Given the description of an element on the screen output the (x, y) to click on. 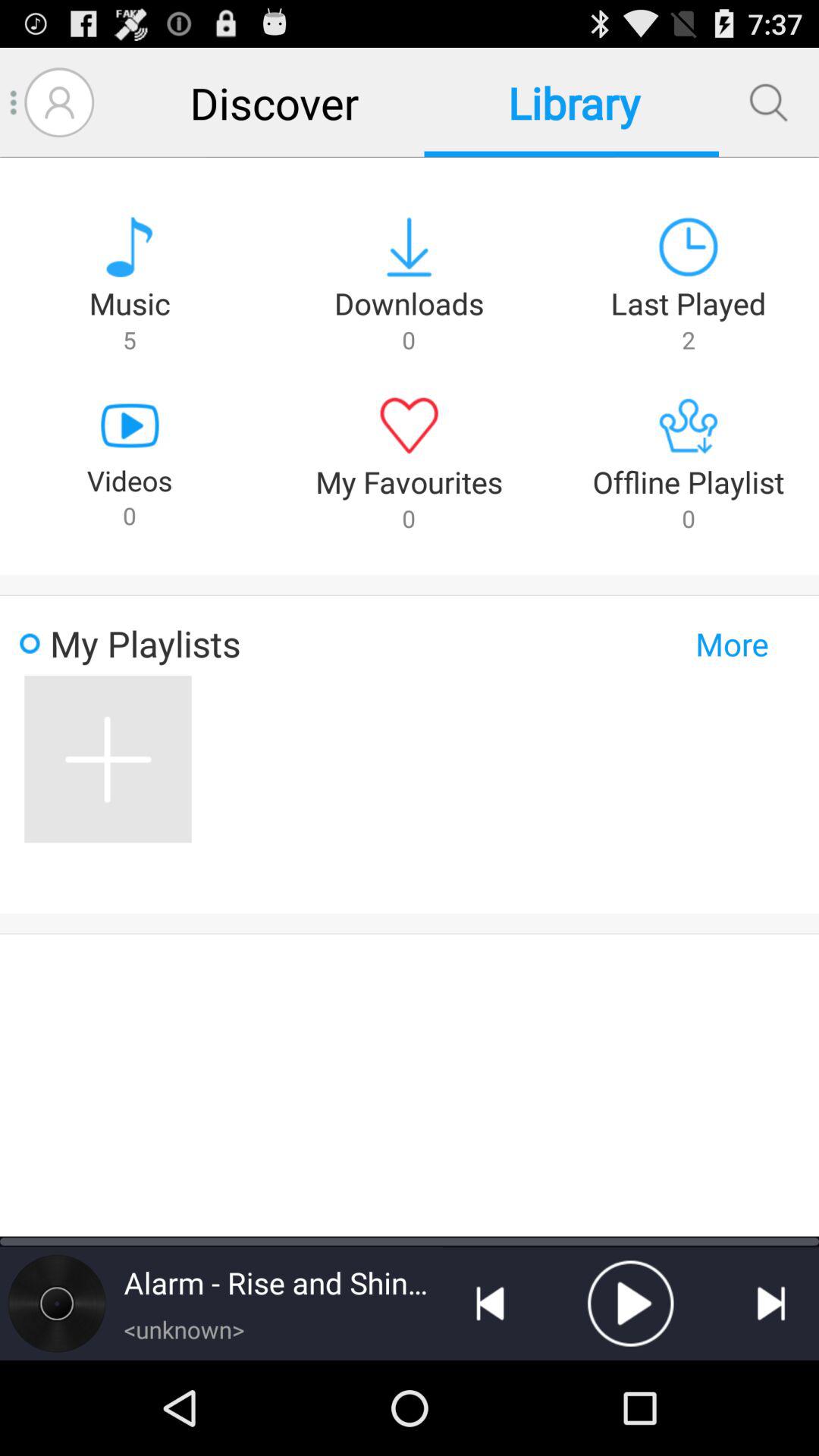
open menu (13, 102)
